Given the description of an element on the screen output the (x, y) to click on. 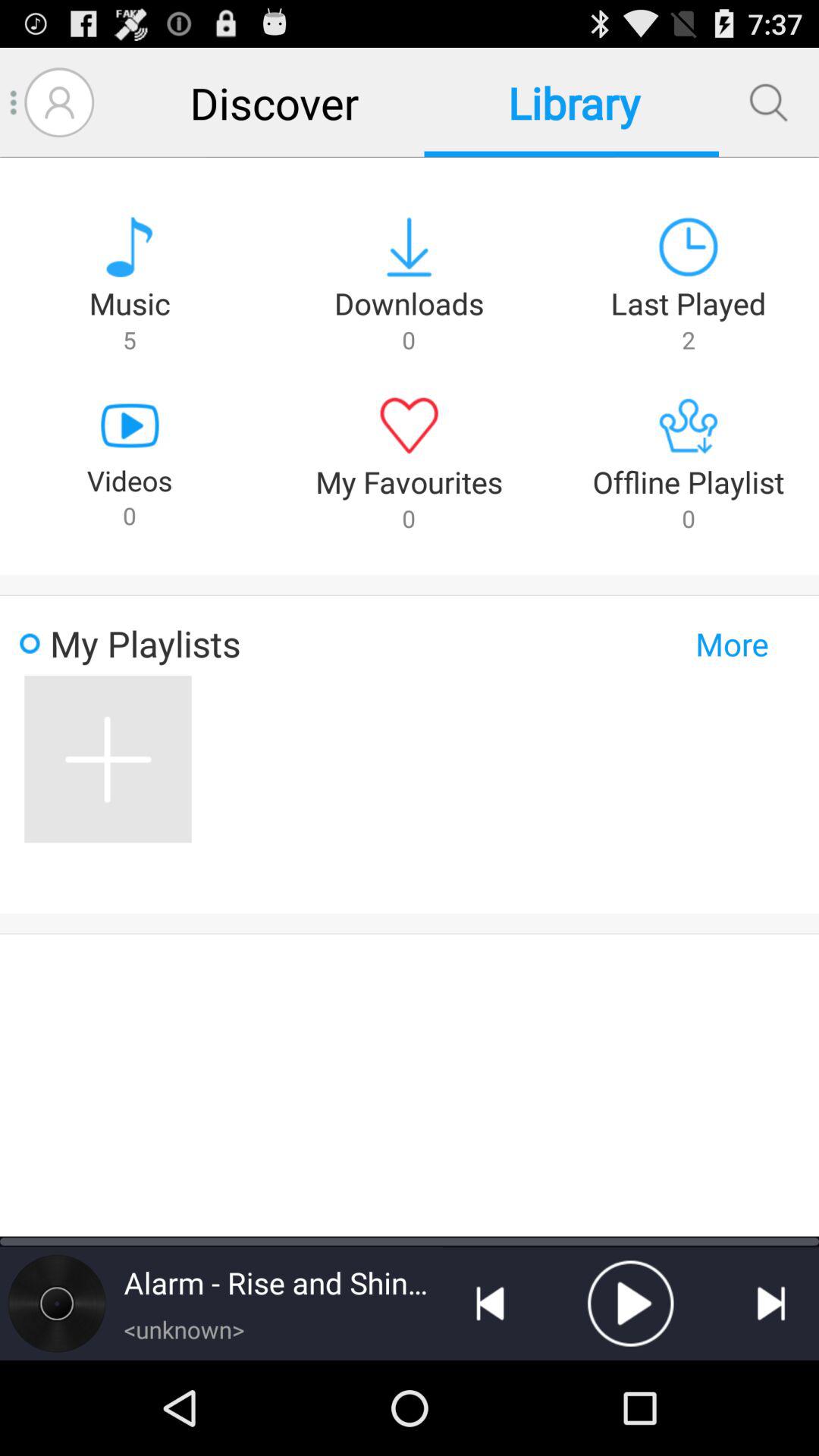
open menu (13, 102)
